Given the description of an element on the screen output the (x, y) to click on. 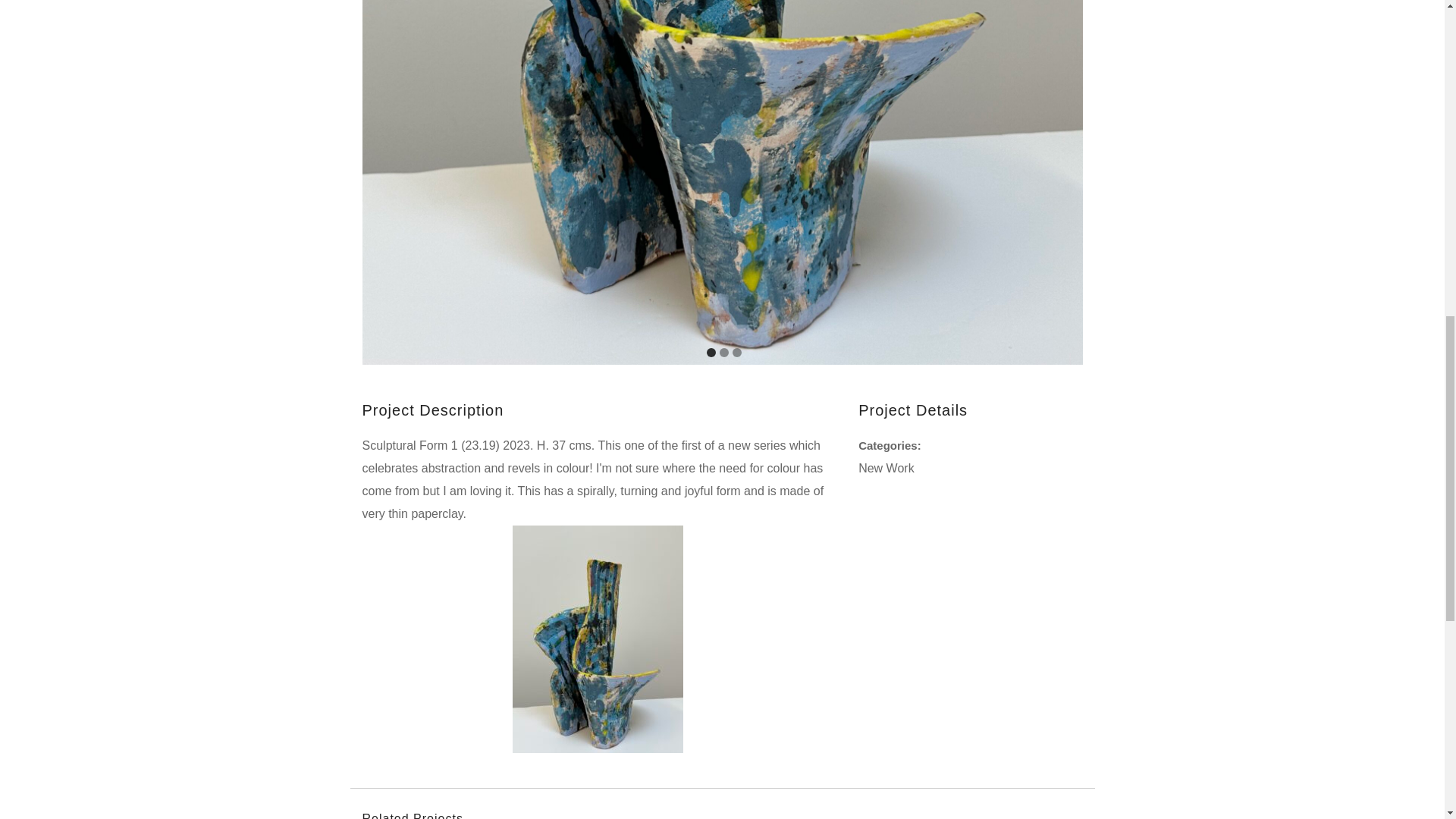
New Work (886, 468)
